Given the description of an element on the screen output the (x, y) to click on. 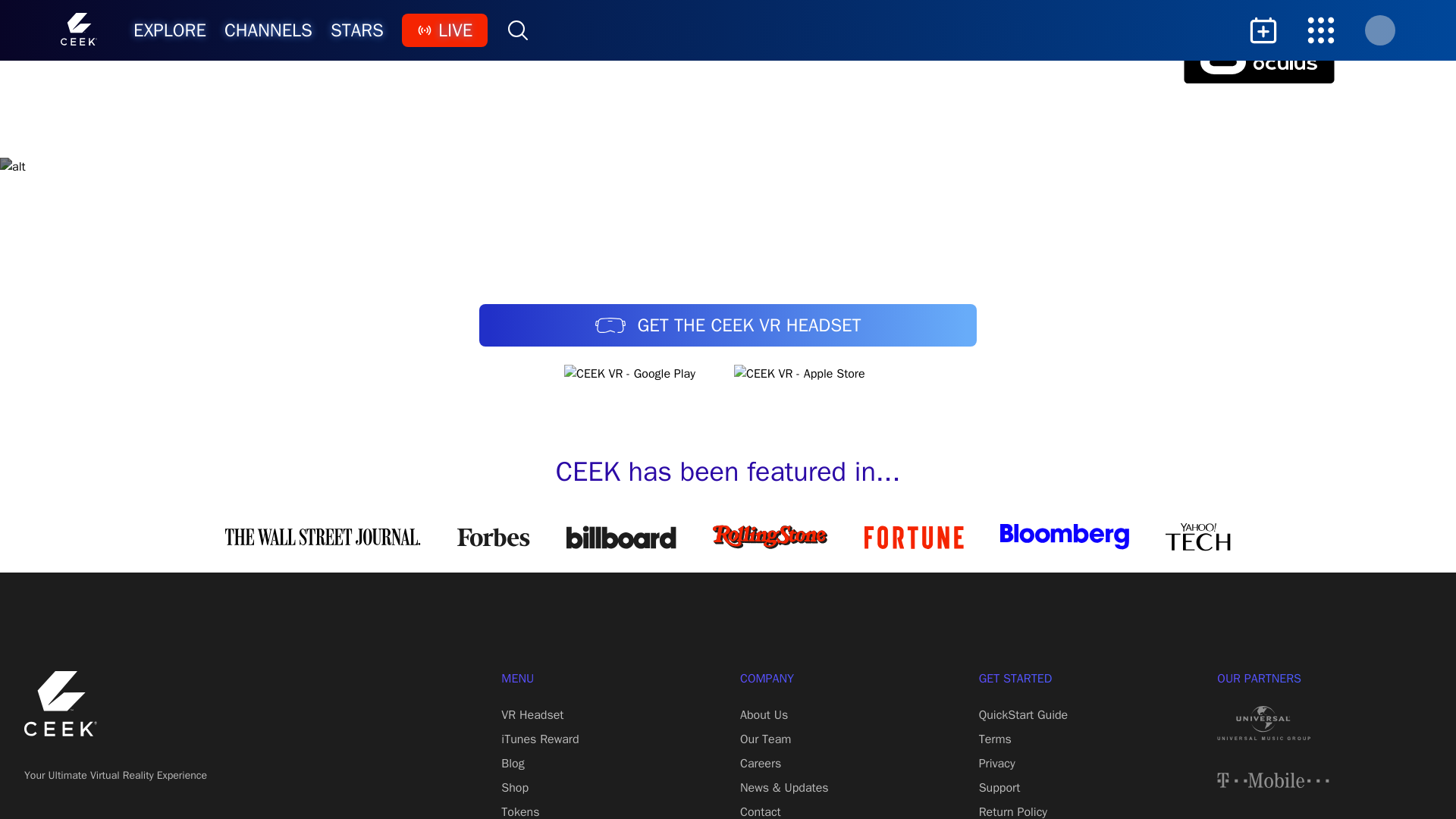
Shop (514, 787)
VR Headset (531, 714)
QuickStart Guide (1023, 714)
iTunes Reward (539, 739)
Terms (994, 739)
Tokens (519, 811)
Our Team (764, 739)
GET THE CEEK VR HEADSET (727, 324)
Careers (759, 763)
Privacy (996, 763)
